Given the description of an element on the screen output the (x, y) to click on. 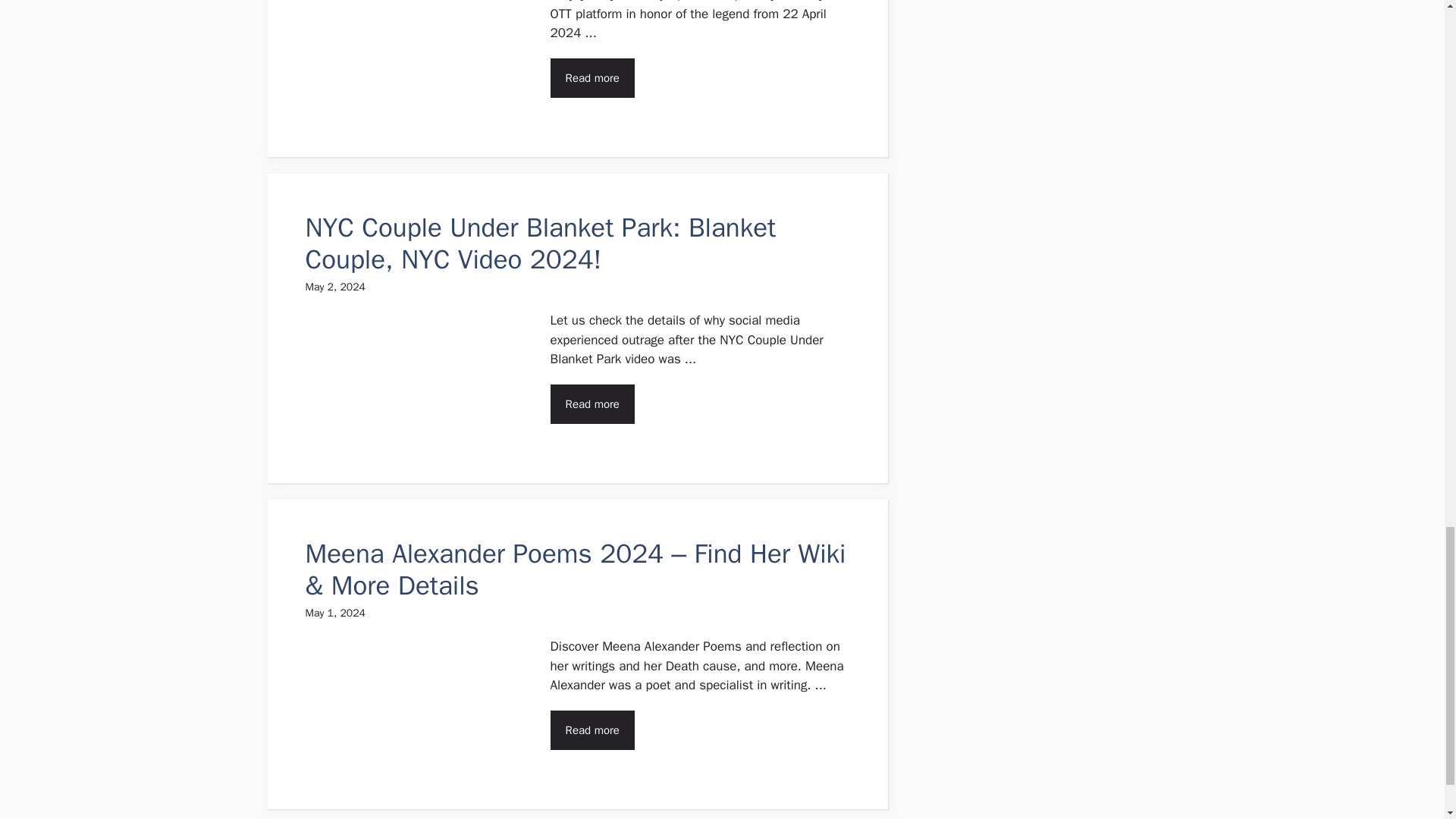
Read more (592, 78)
Read more (592, 404)
Read more (592, 730)
